Given the description of an element on the screen output the (x, y) to click on. 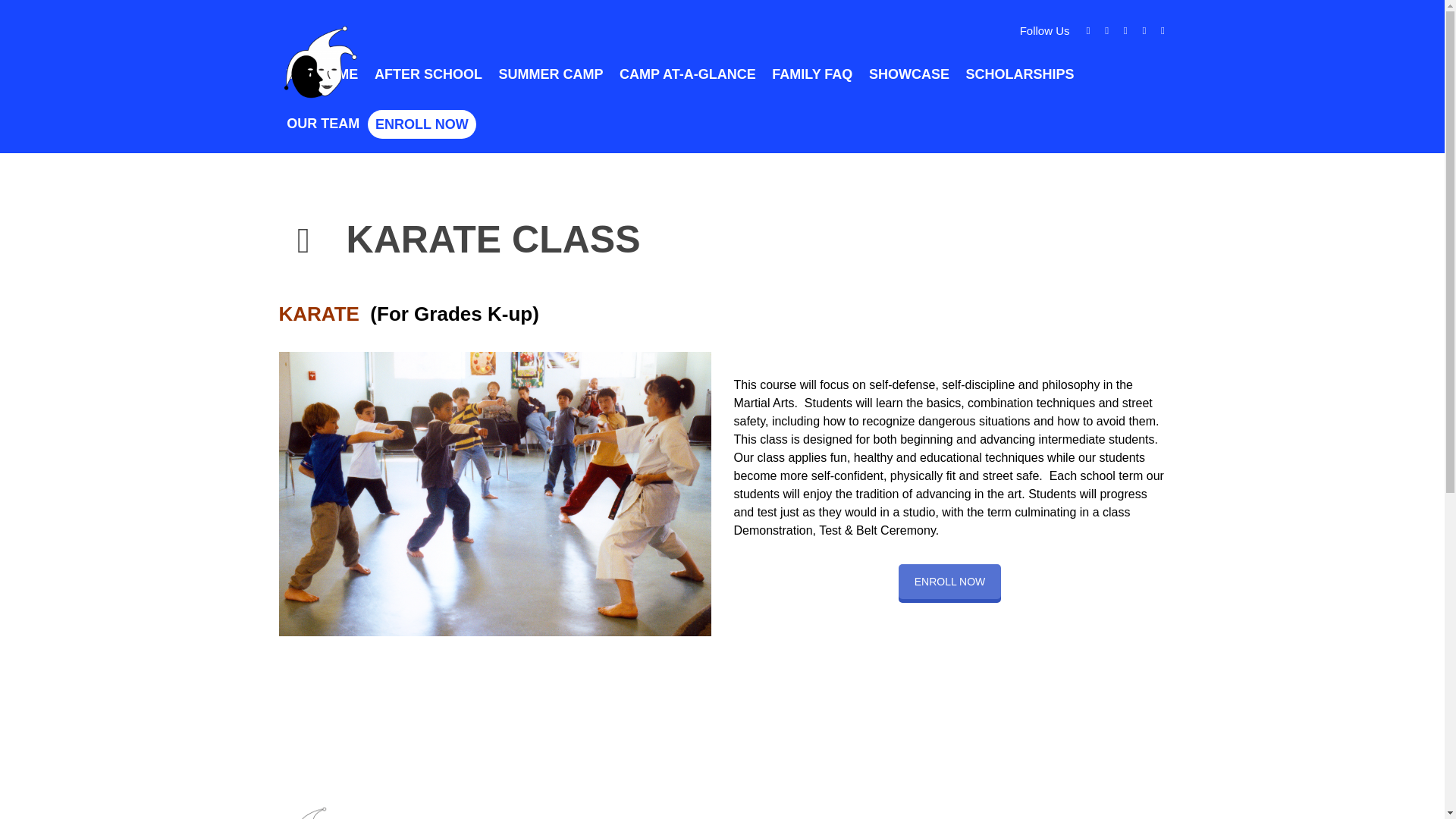
WELCOME (322, 73)
ENROLL (949, 581)
4 - After School Karate (495, 494)
AFTER SCHOOL (428, 73)
SUMMER CAMP (550, 73)
CAMP AT-A-GLANCE (686, 73)
FAMILY FAQ (812, 73)
SHOWCASE (909, 73)
OUR TEAM (323, 123)
SCHOLARSHIPS (1020, 73)
